Given the description of an element on the screen output the (x, y) to click on. 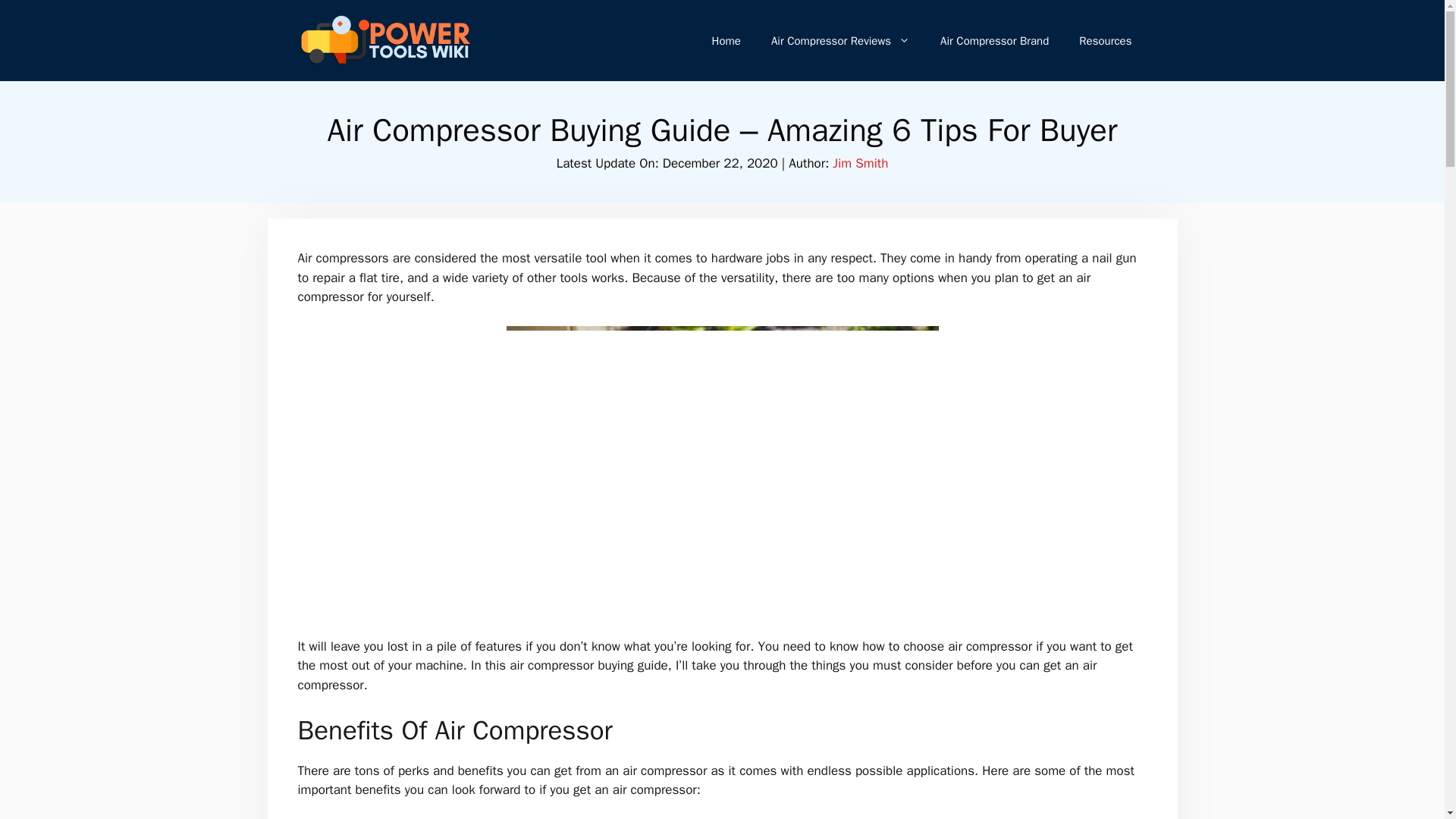
Resources (1105, 40)
Power Tool Wiki (384, 40)
Home (726, 40)
Power Tool Wiki (384, 39)
Jim Smith (860, 163)
View all posts by Jim Smith (860, 163)
Air Compressor Brand (994, 40)
Air Compressor Reviews (839, 40)
